Given the description of an element on the screen output the (x, y) to click on. 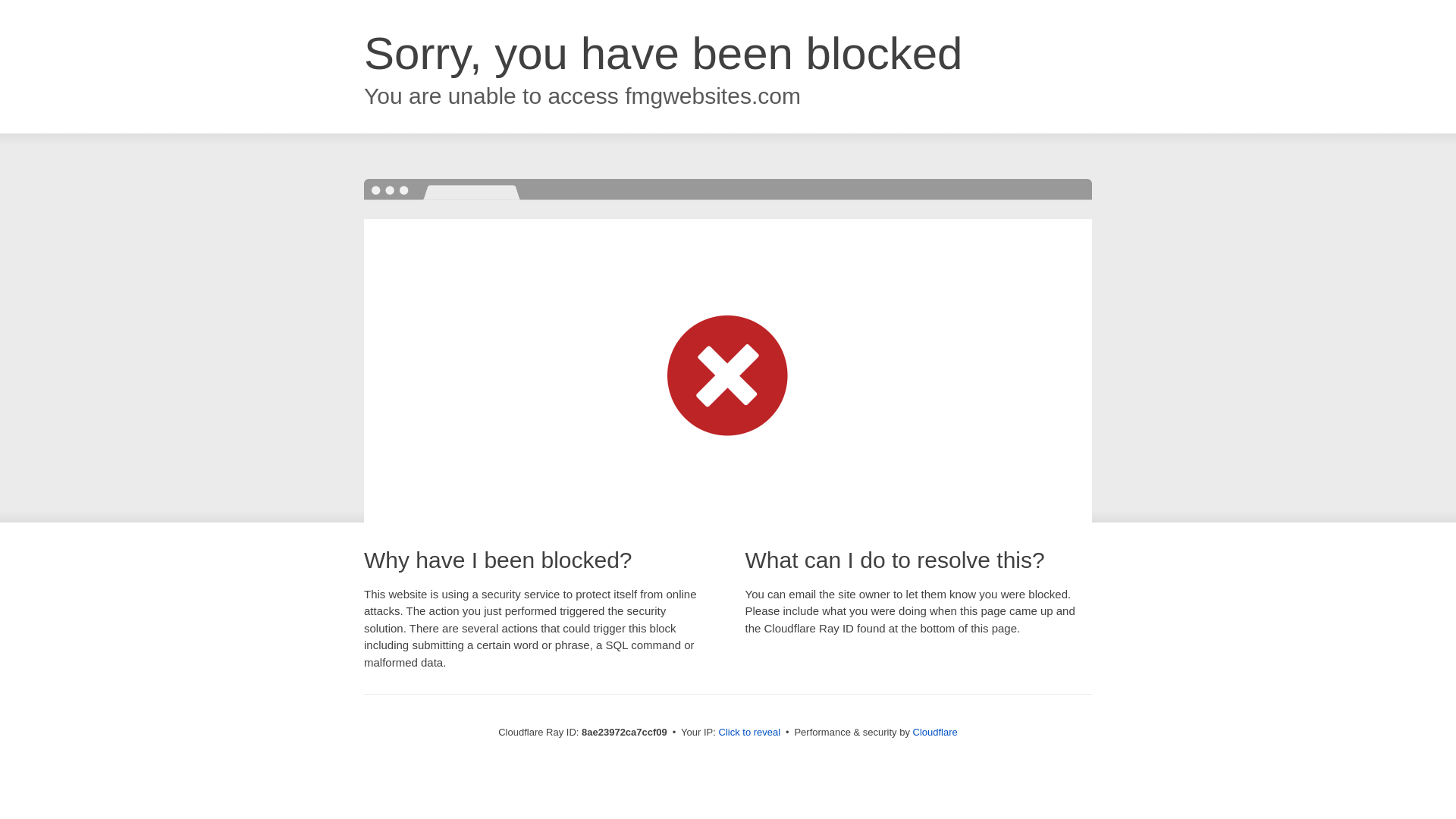
Cloudflare (935, 731)
Click to reveal (749, 732)
